Given the description of an element on the screen output the (x, y) to click on. 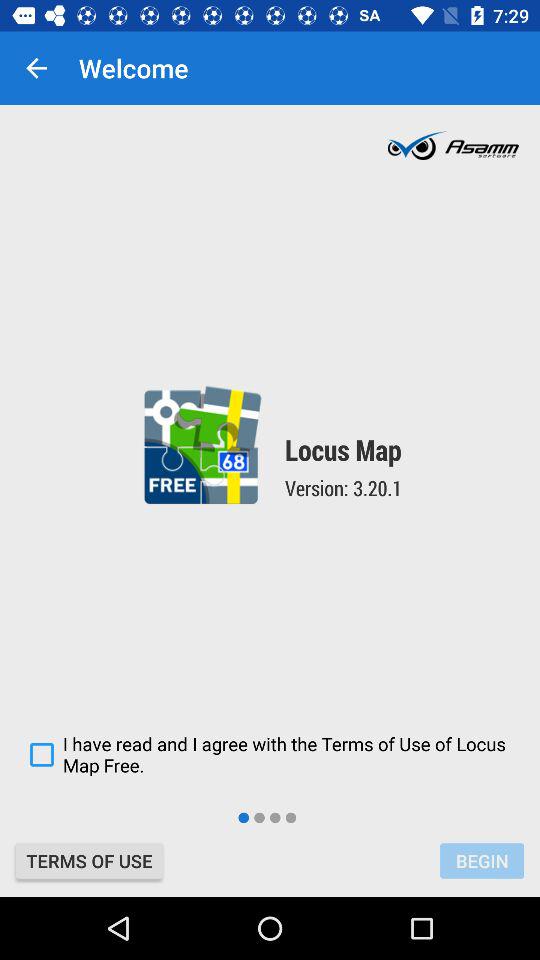
launch item next to terms of use icon (482, 860)
